Given the description of an element on the screen output the (x, y) to click on. 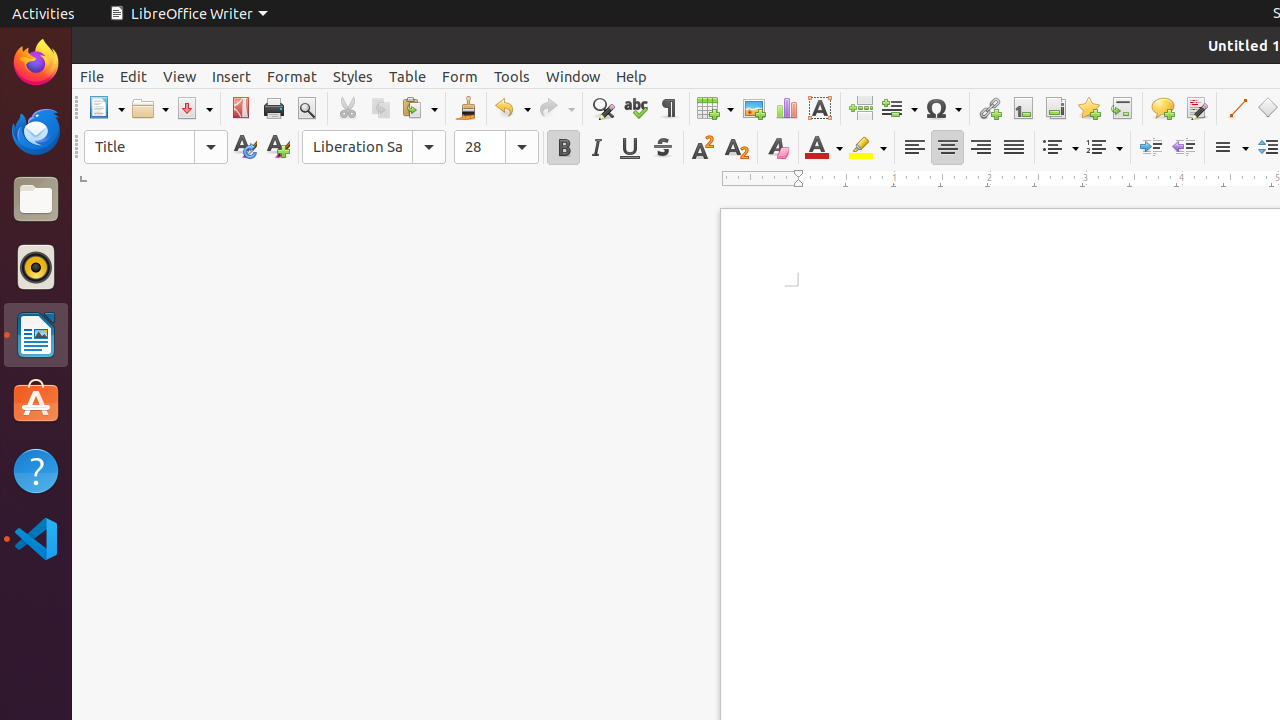
File Element type: menu (92, 76)
Find & Replace Element type: toggle-button (602, 108)
Visual Studio Code Element type: push-button (36, 538)
Save Element type: push-button (194, 108)
Paragraph Style Element type: combo-box (156, 147)
